Given the description of an element on the screen output the (x, y) to click on. 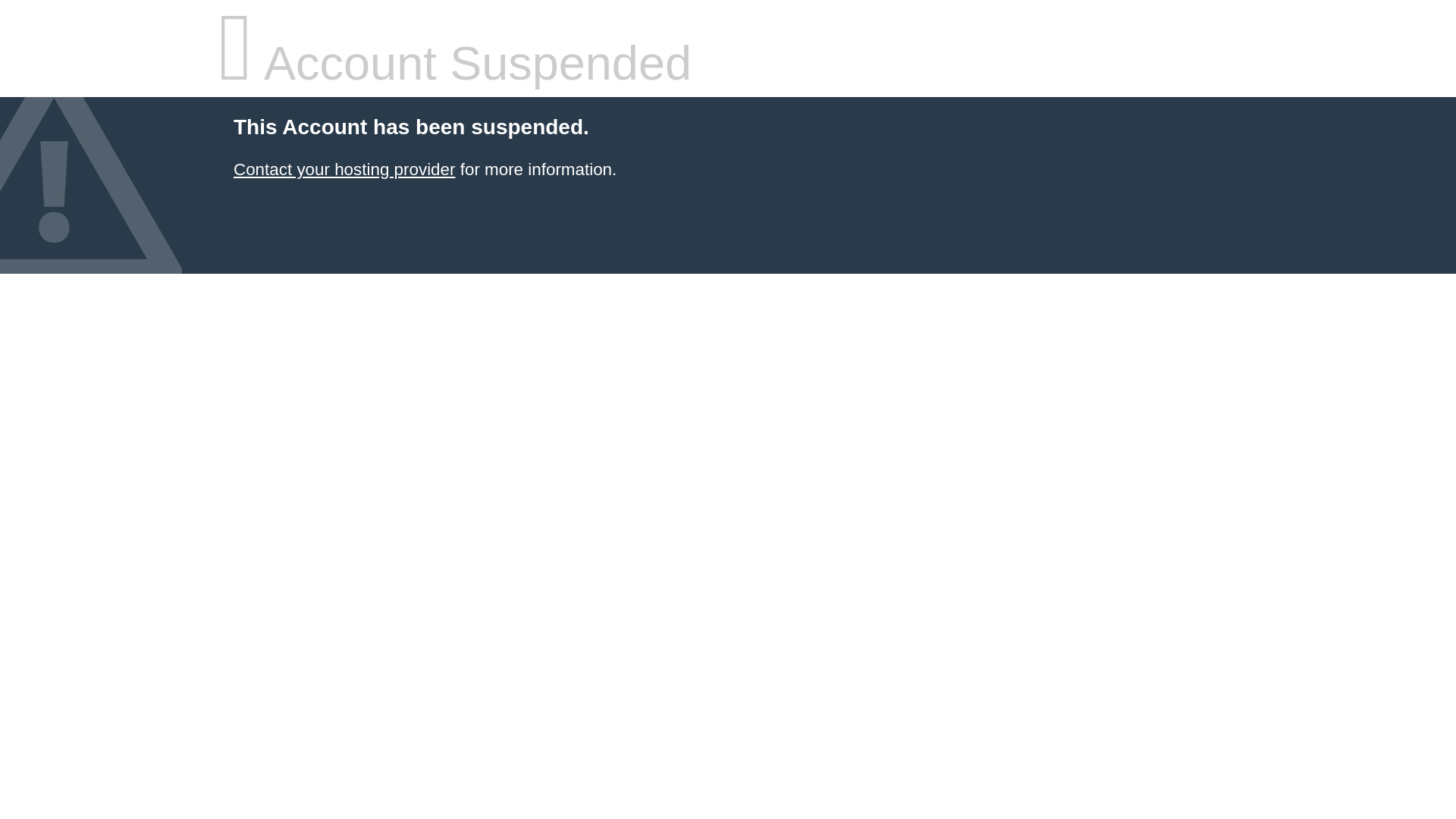
Contact your hosting provider Element type: text (344, 169)
